Given the description of an element on the screen output the (x, y) to click on. 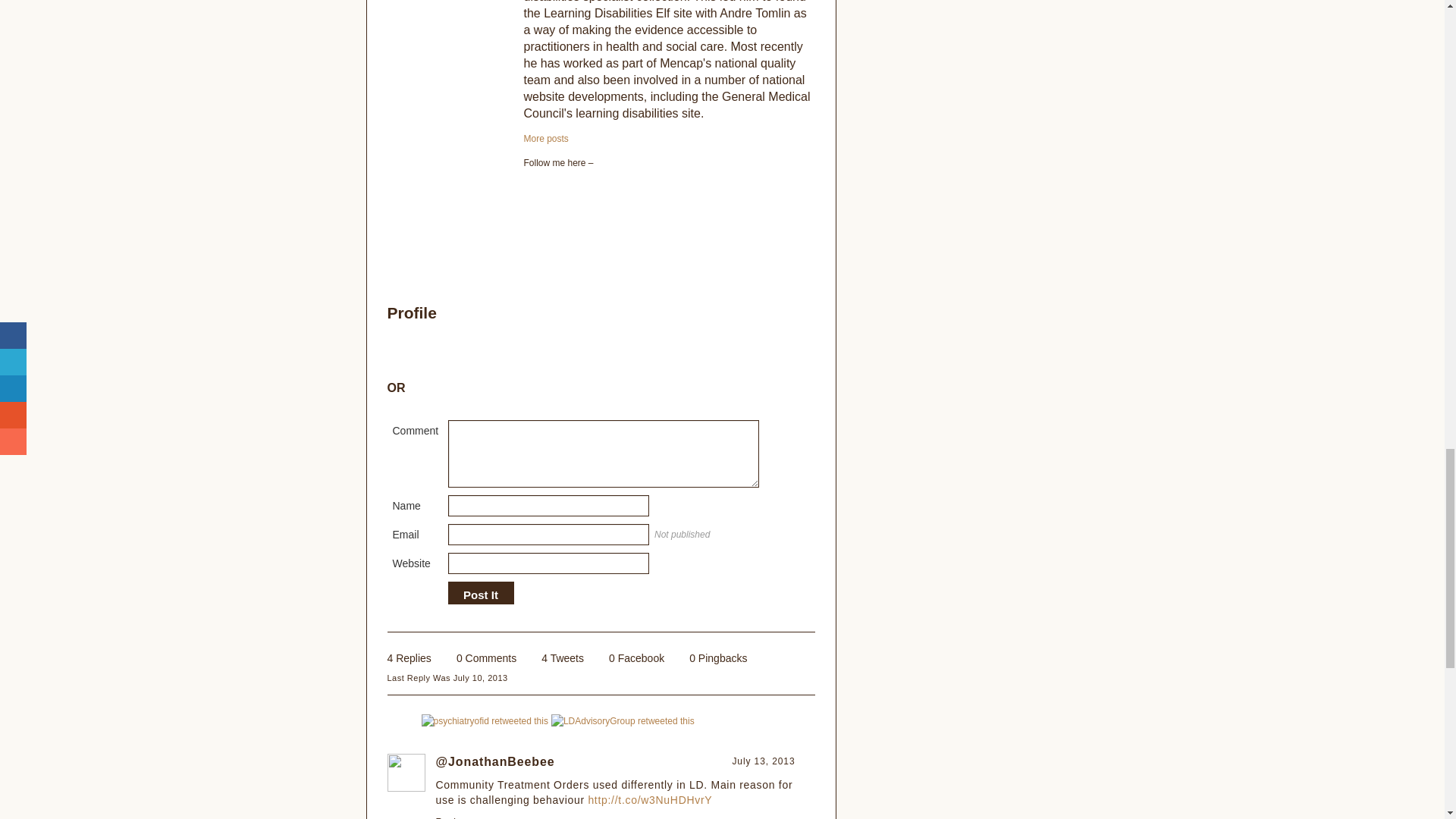
LDAdvisoryGroup retweeted this (622, 721)
Post It (479, 595)
psychiatryofid retweeted this (485, 721)
Twitter (531, 188)
John Northfield (544, 138)
